Given the description of an element on the screen output the (x, y) to click on. 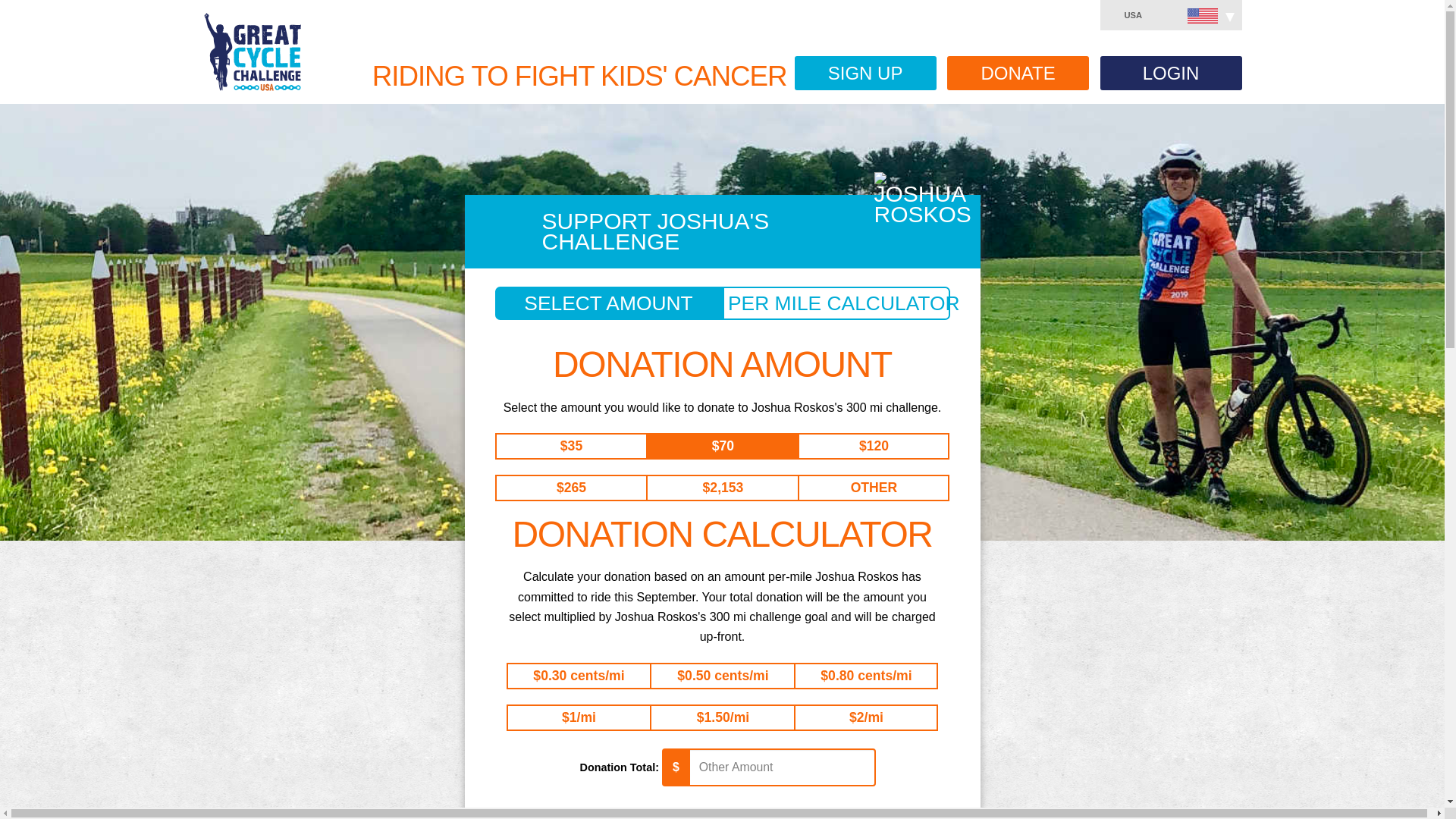
386.2425537109375 (825, 674)
144.84095764160156 (537, 674)
965.6064 (853, 716)
724.2047882080078 (701, 716)
2153.00 (708, 486)
265 (561, 486)
70 (716, 444)
Great Cycle Challenge USA (252, 51)
482.8032 (567, 716)
241.40159606933594 (682, 674)
35 (565, 444)
120 (864, 444)
0 (855, 486)
